Given the description of an element on the screen output the (x, y) to click on. 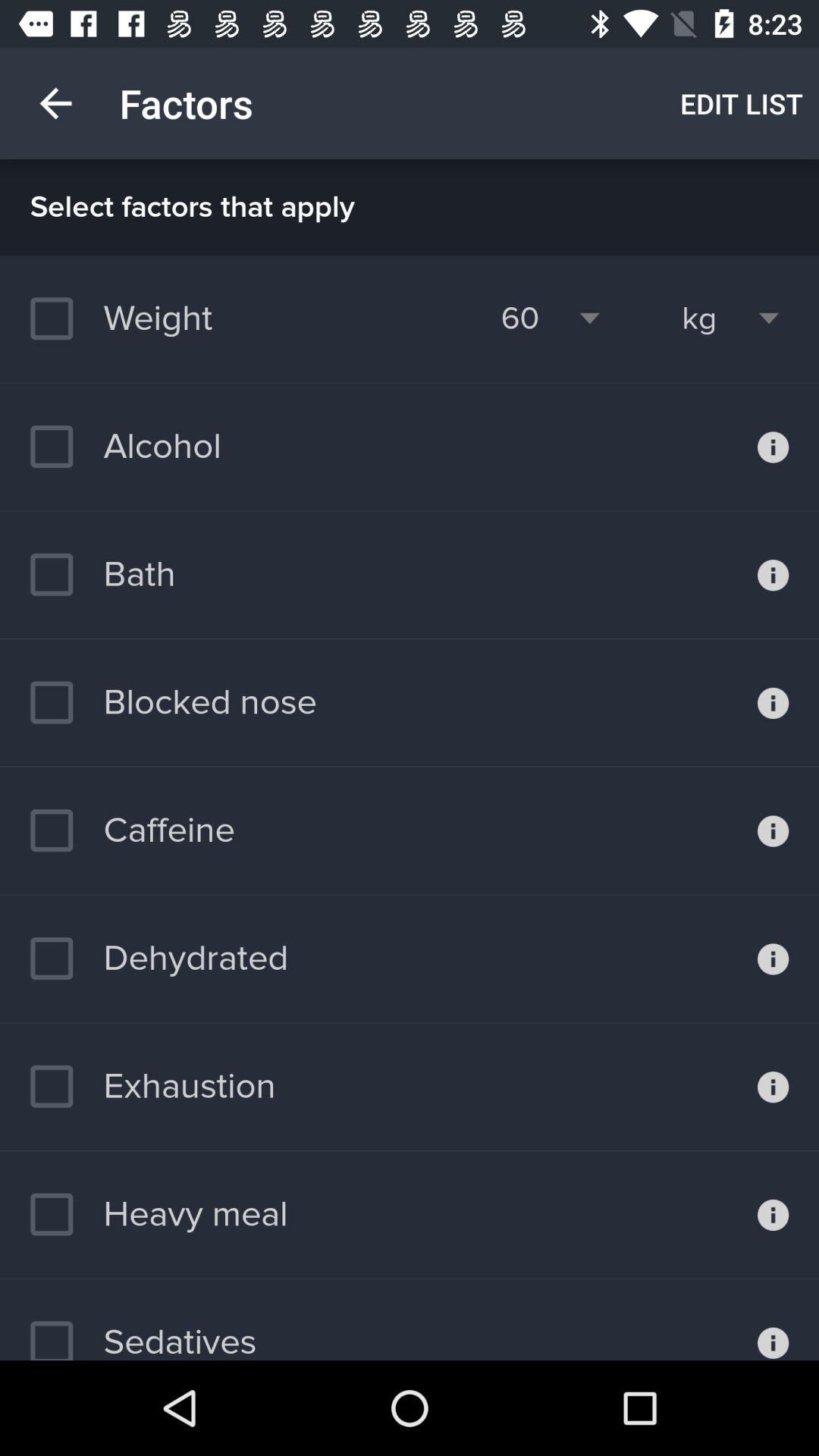
press the icon to the right of 60 (698, 318)
